Given the description of an element on the screen output the (x, y) to click on. 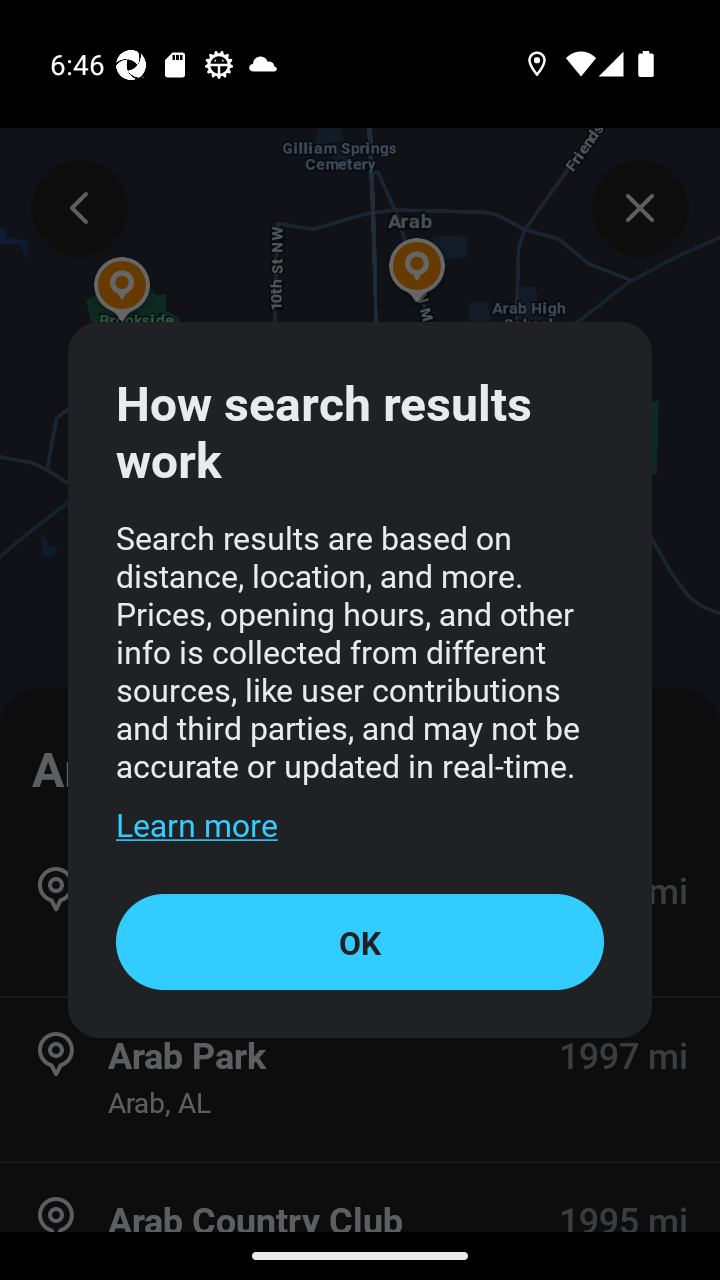
Learn more (196, 824)
OK (359, 941)
